Given the description of an element on the screen output the (x, y) to click on. 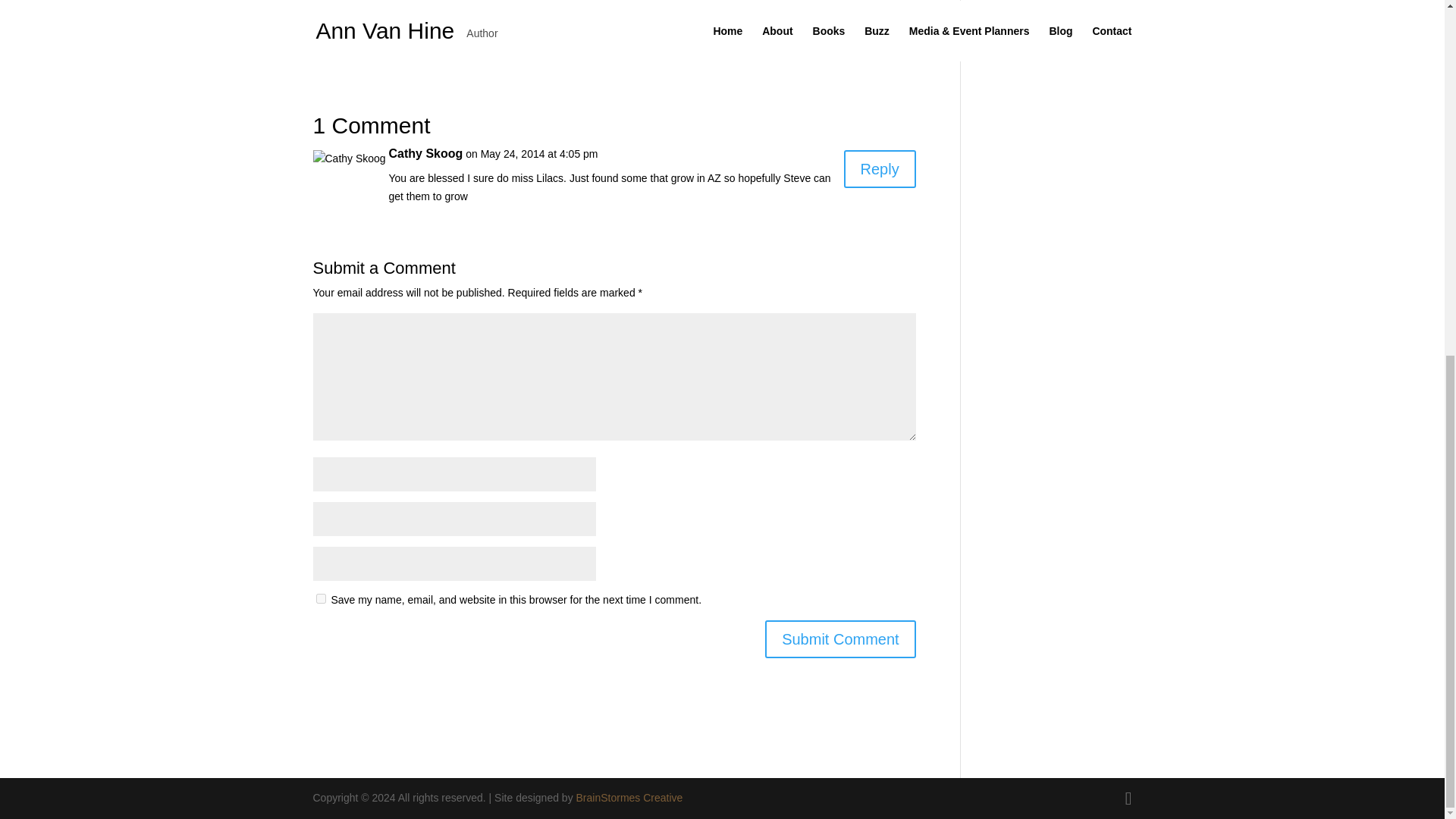
Submit Comment (840, 638)
Reply (879, 168)
Submit Comment (840, 638)
yes (319, 598)
